Given the description of an element on the screen output the (x, y) to click on. 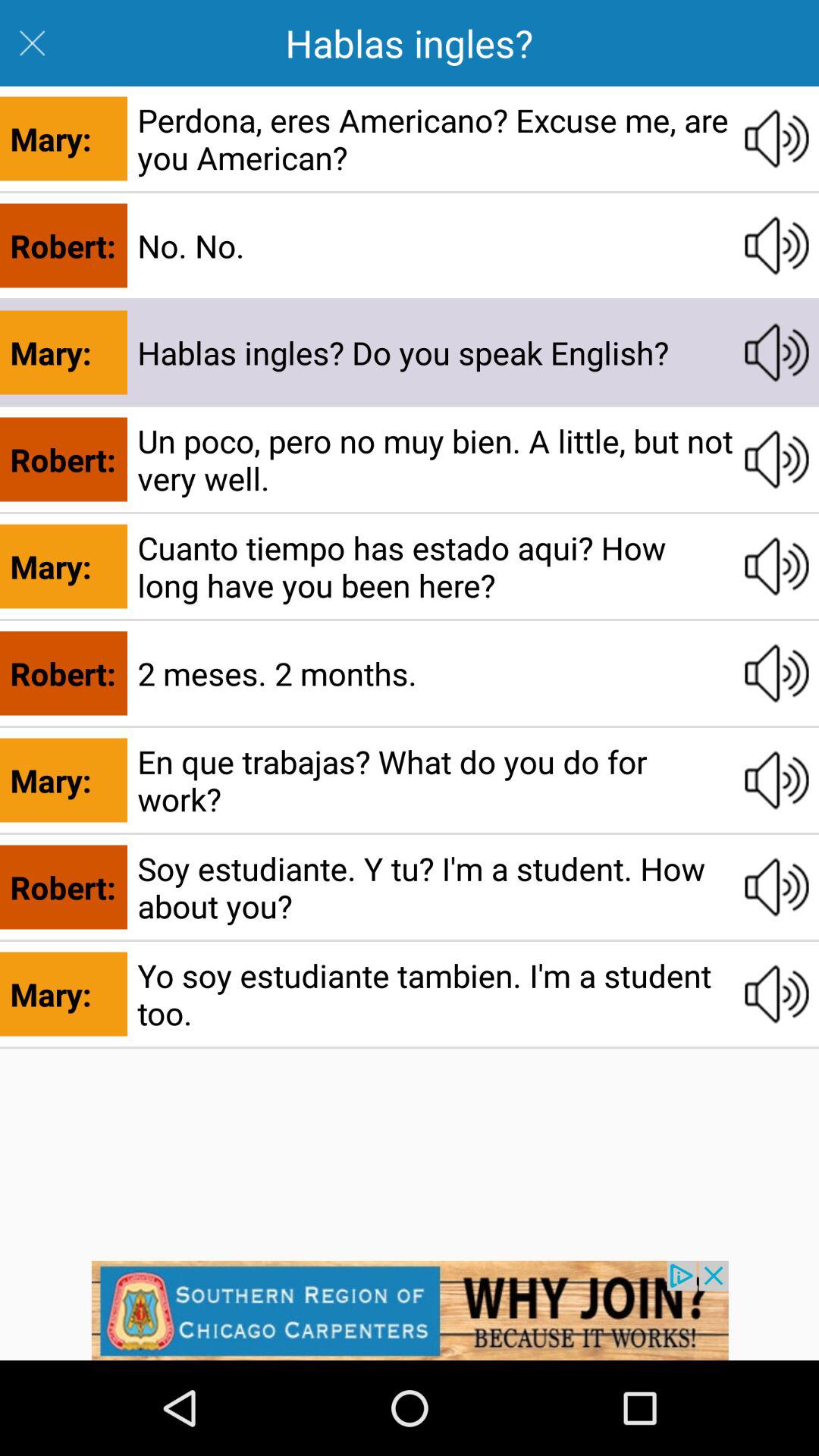
volume option (776, 887)
